Given the description of an element on the screen output the (x, y) to click on. 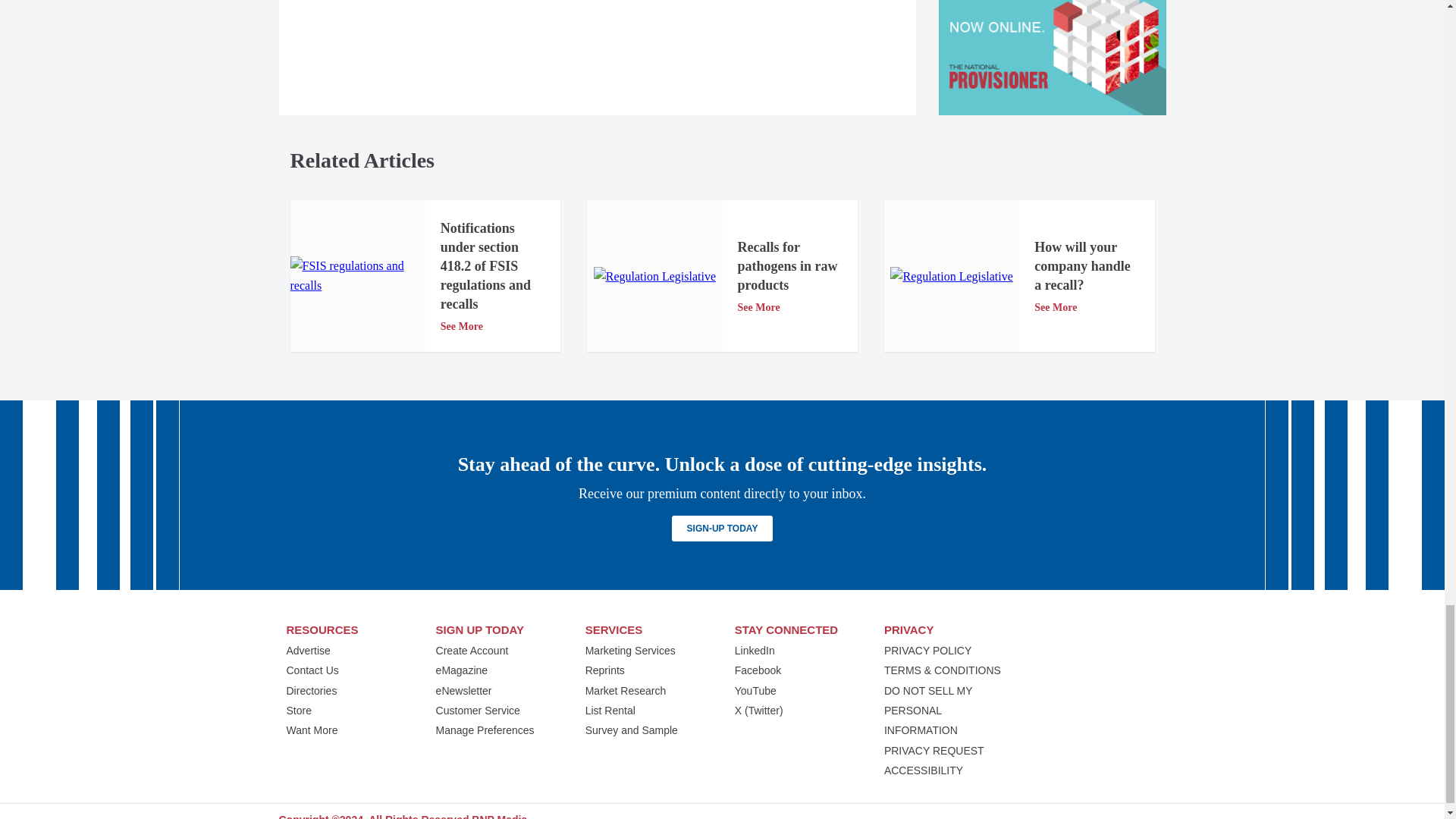
FSIS regulations and recalls (357, 276)
Regulation Legislative (655, 276)
Regulation Legislative (950, 276)
